Given the description of an element on the screen output the (x, y) to click on. 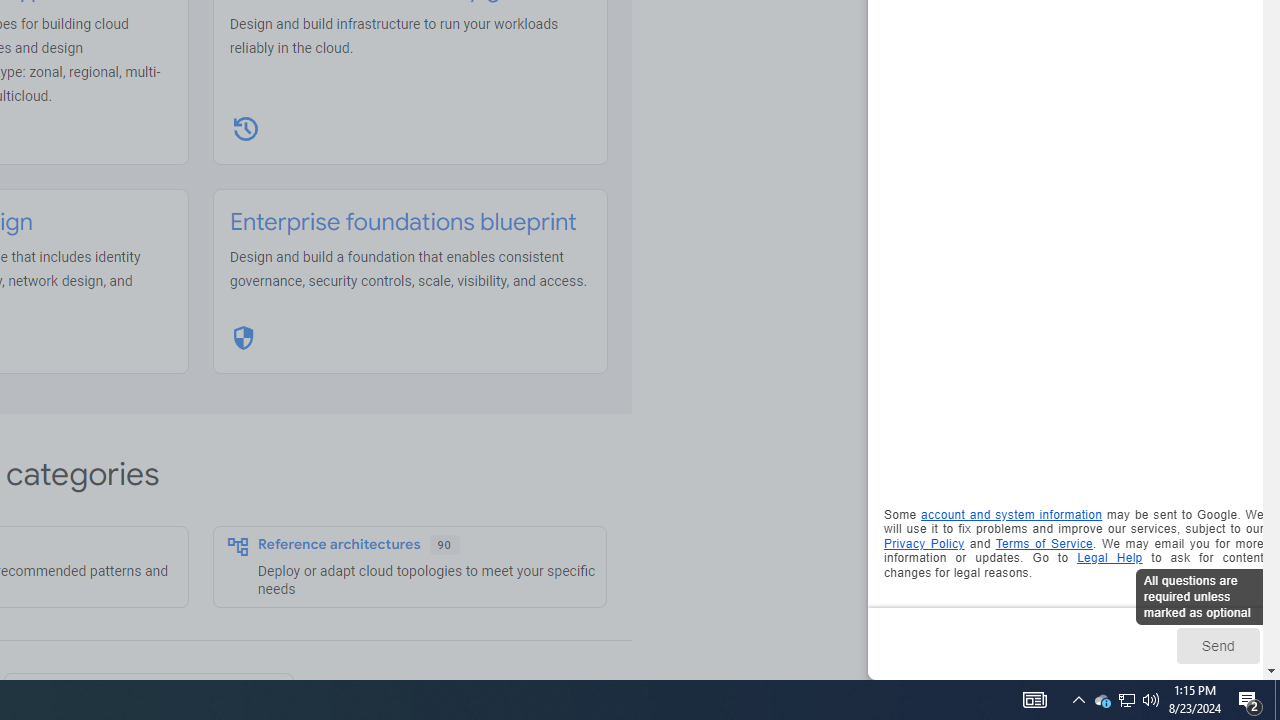
Opens in a new tab. Legal Help (1109, 557)
Enterprise foundations blueprint (403, 221)
Send (1217, 645)
Opens in a new tab. Privacy Policy (924, 542)
account and system information (1012, 515)
Opens in a new tab. Terms of Service (1044, 542)
